Given the description of an element on the screen output the (x, y) to click on. 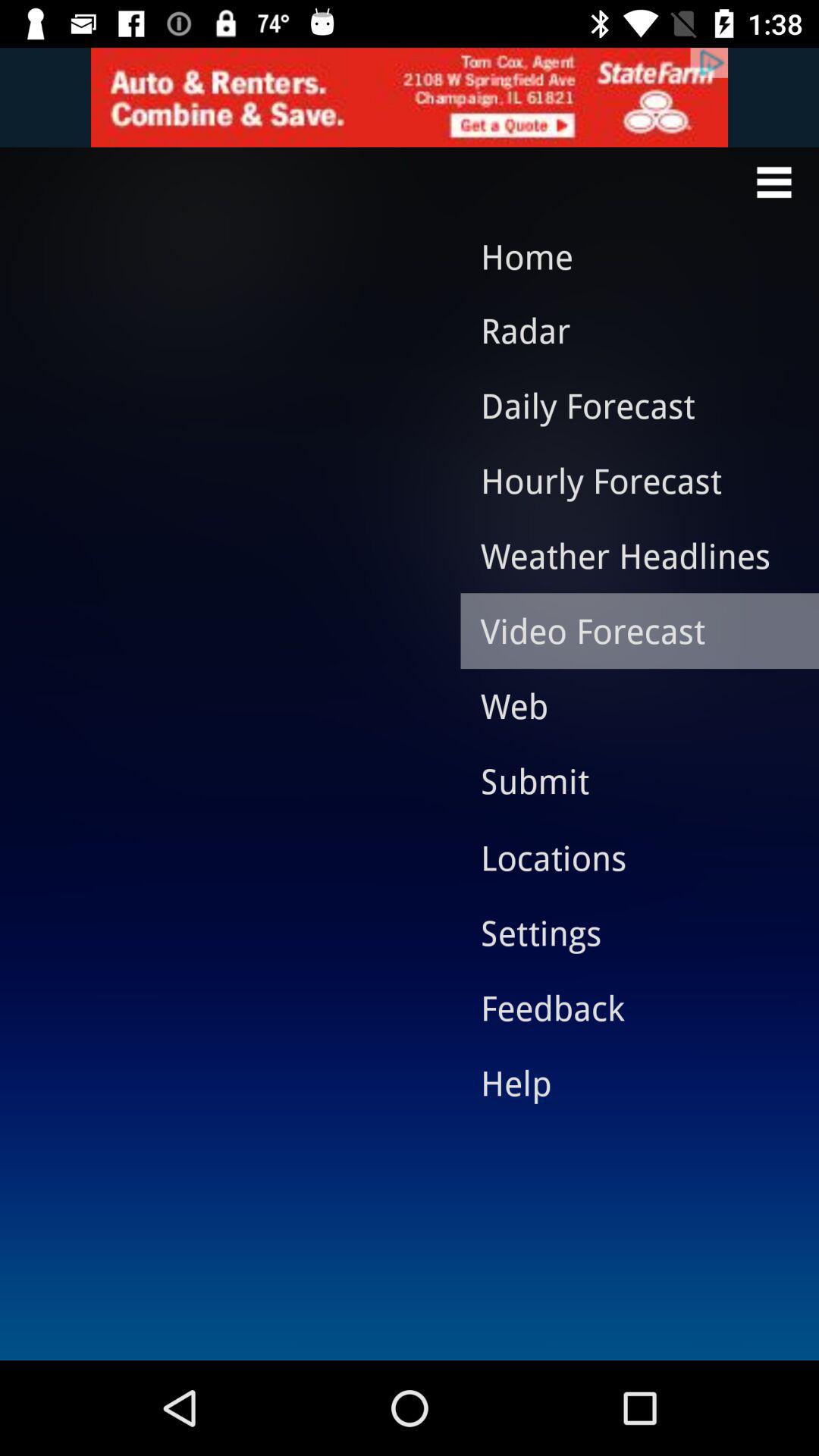
click the advertisement (409, 97)
